Given the description of an element on the screen output the (x, y) to click on. 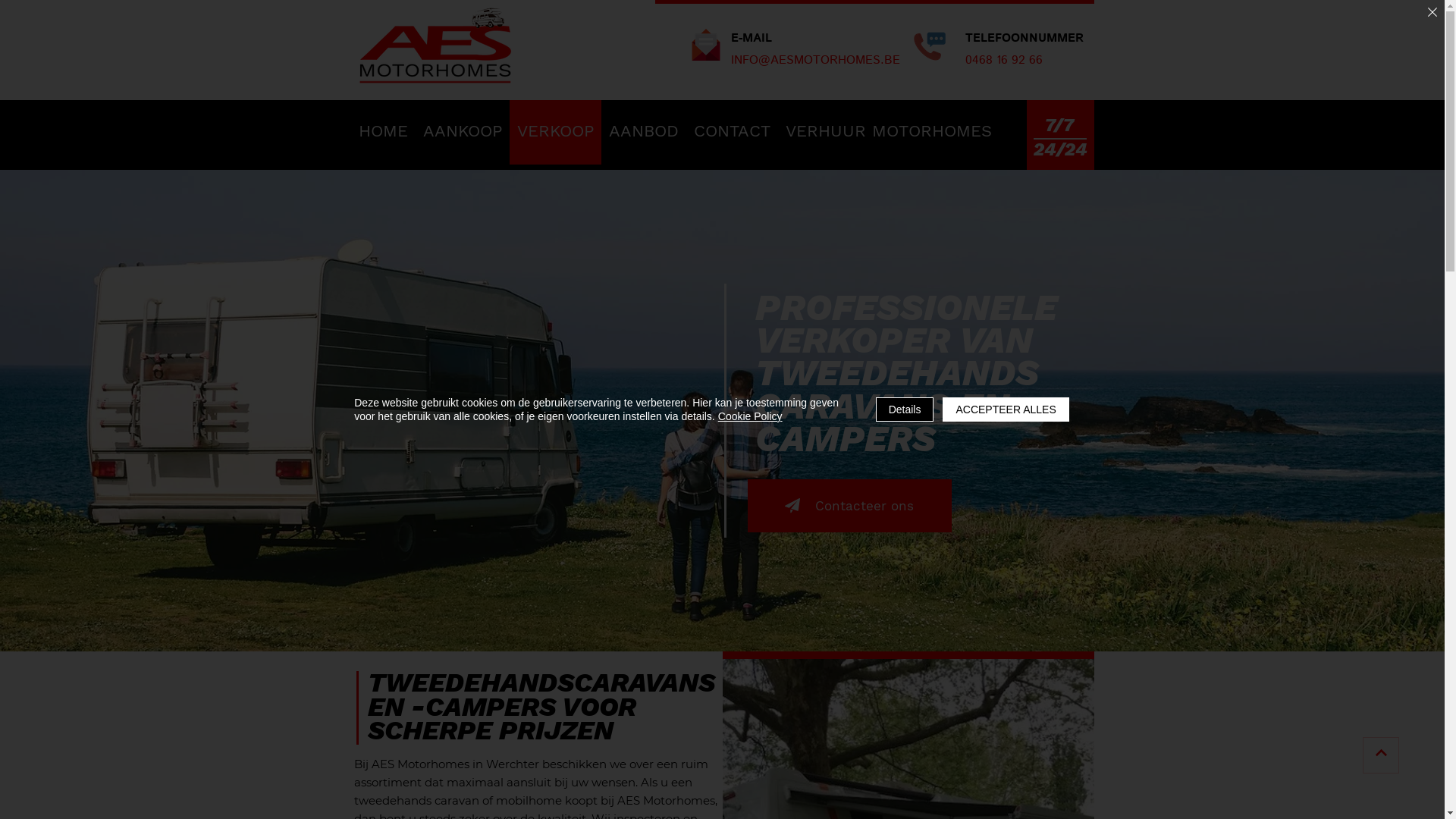
CONTACT Element type: text (731, 132)
Cookie Policy Element type: text (750, 416)
VERHUUR MOTORHOMES Element type: text (888, 132)
HOME Element type: text (382, 132)
INFO@AESMOTORHOMES.BE Element type: text (815, 59)
Contacteer ons Element type: text (849, 505)
VERKOOP Element type: text (555, 132)
AANKOOP Element type: text (462, 132)
ACCEPTEER ALLES Element type: text (1005, 409)
AANBOD Element type: text (642, 132)
Details Element type: text (904, 409)
0468 16 92 66 Element type: text (1002, 59)
